Given the description of an element on the screen output the (x, y) to click on. 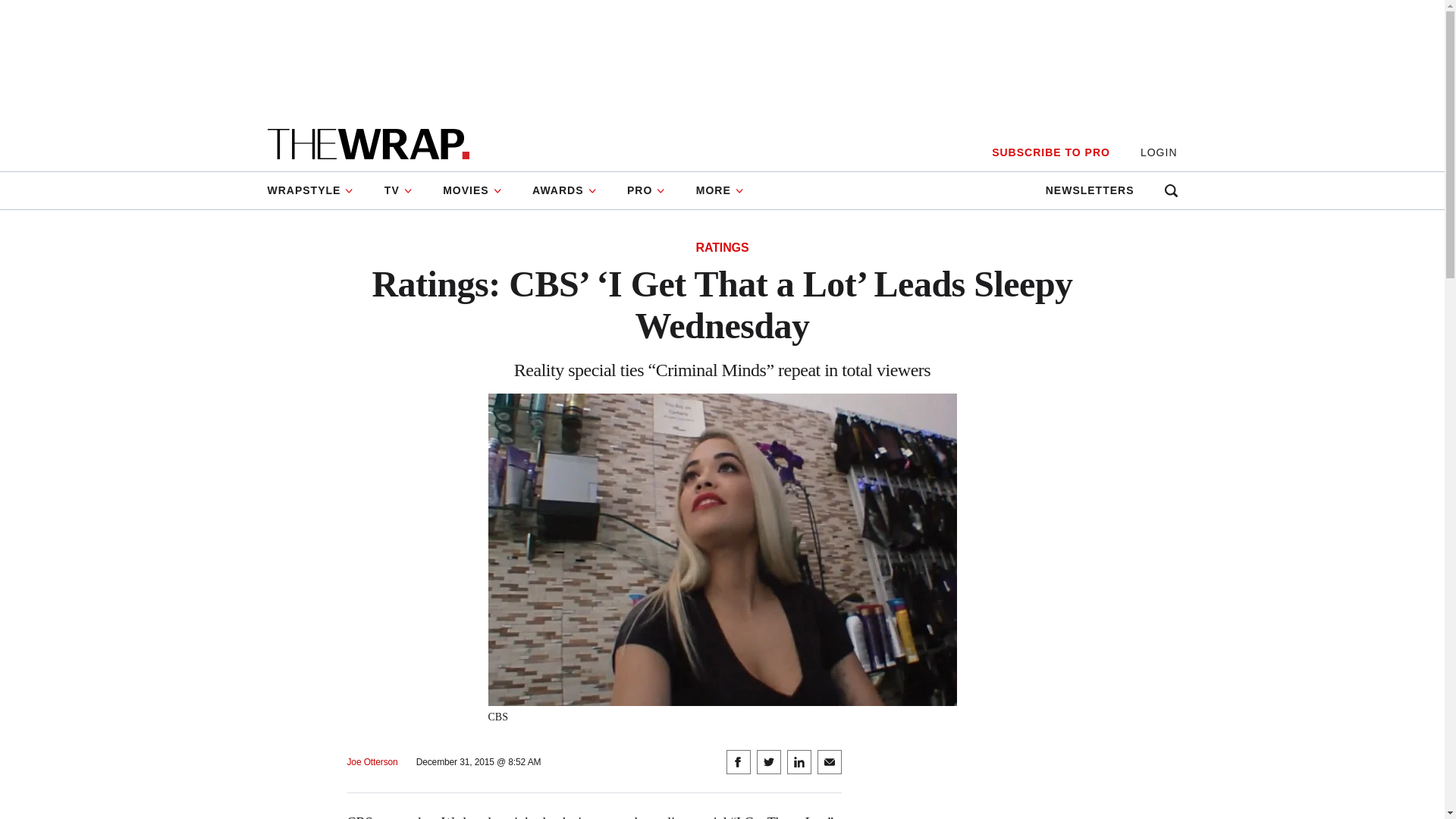
LOGIN (1158, 152)
MOVIES (472, 190)
WRAPSTYLE (317, 190)
MORE (719, 190)
SUBSCRIBE TO PRO (1050, 152)
TV (398, 190)
Posts by Joe Otterson (372, 762)
PRO (646, 190)
AWARDS (563, 190)
